Given the description of an element on the screen output the (x, y) to click on. 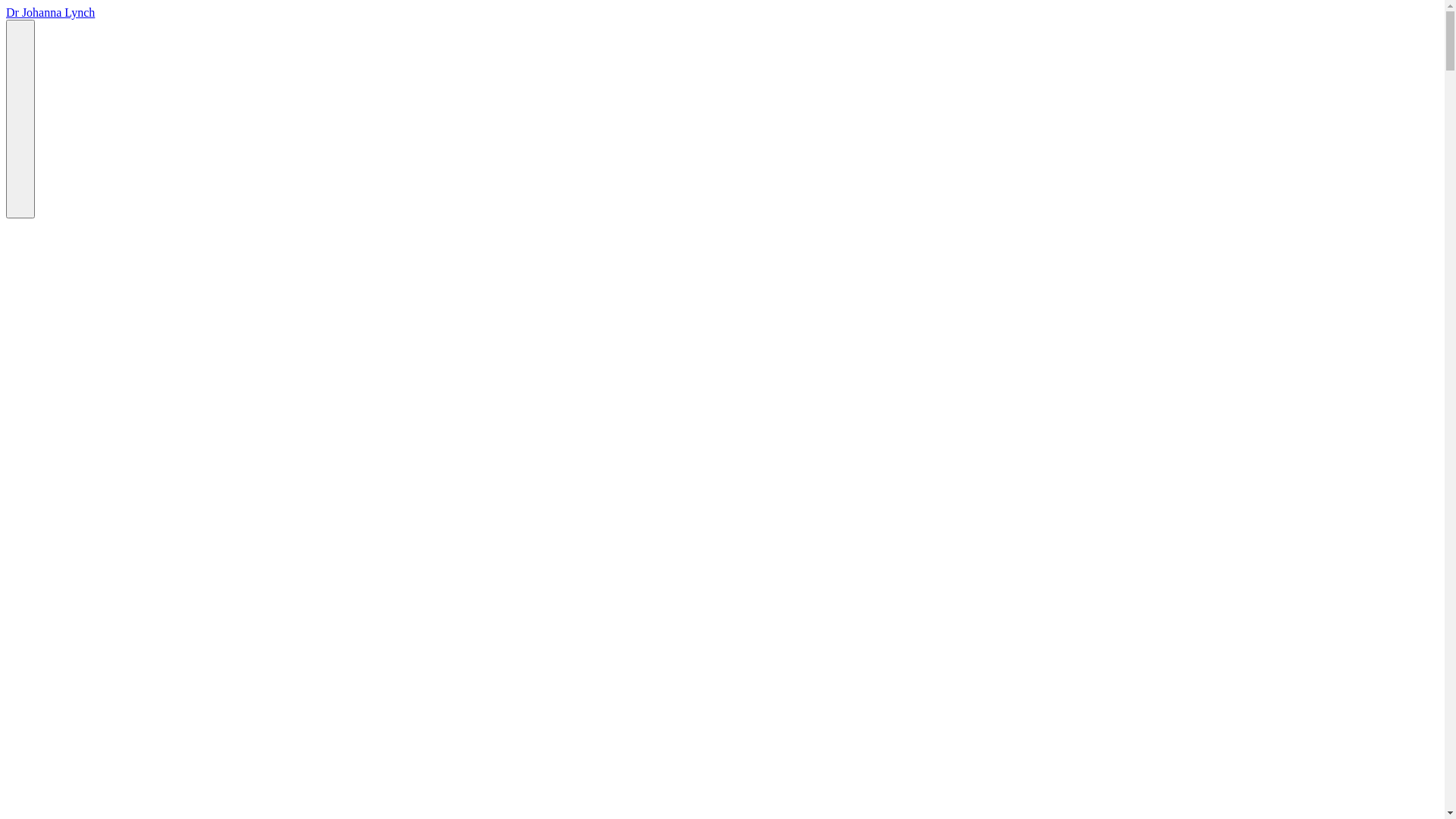
Dr Johanna Lynch Element type: text (50, 12)
